Given the description of an element on the screen output the (x, y) to click on. 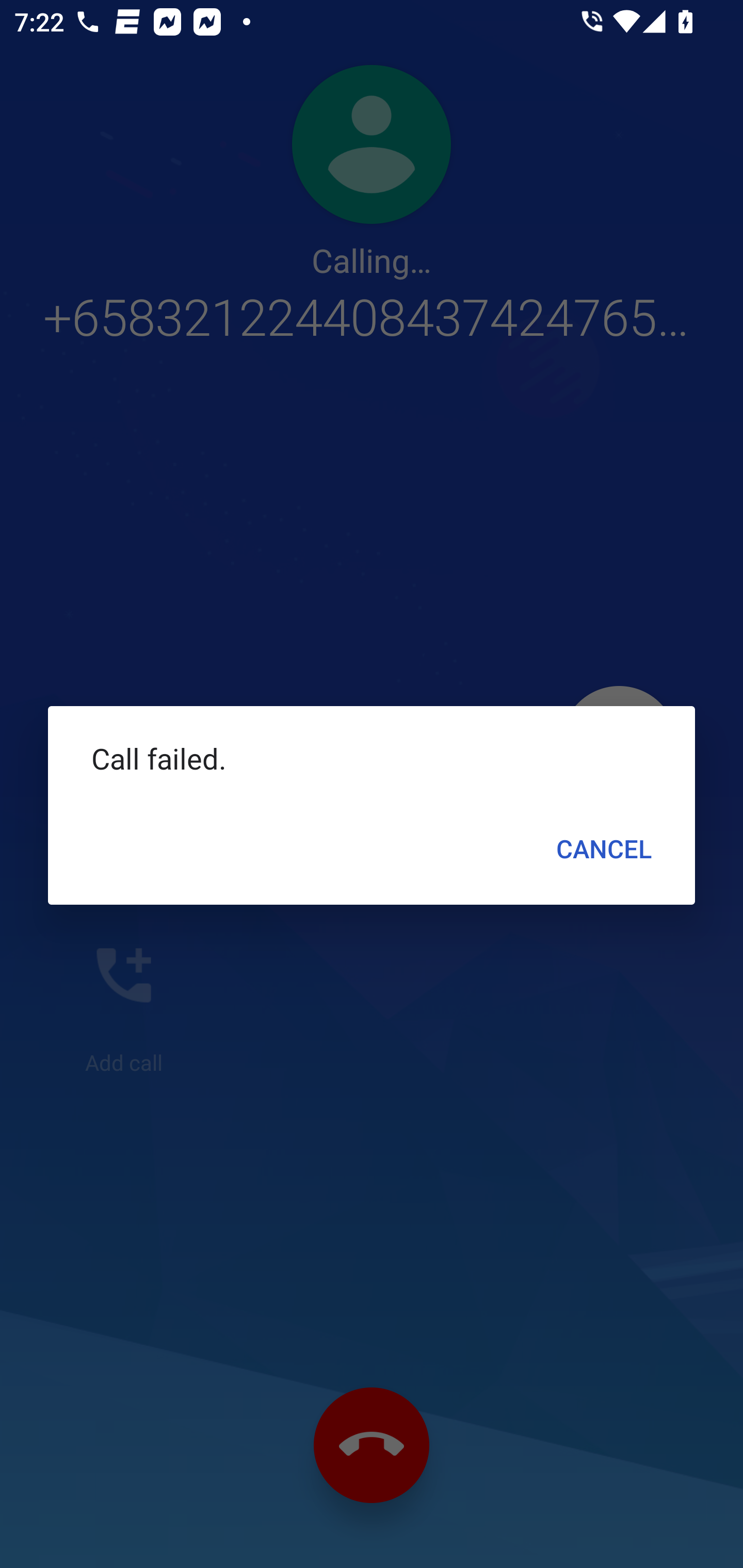
CANCEL (603, 847)
